Given the description of an element on the screen output the (x, y) to click on. 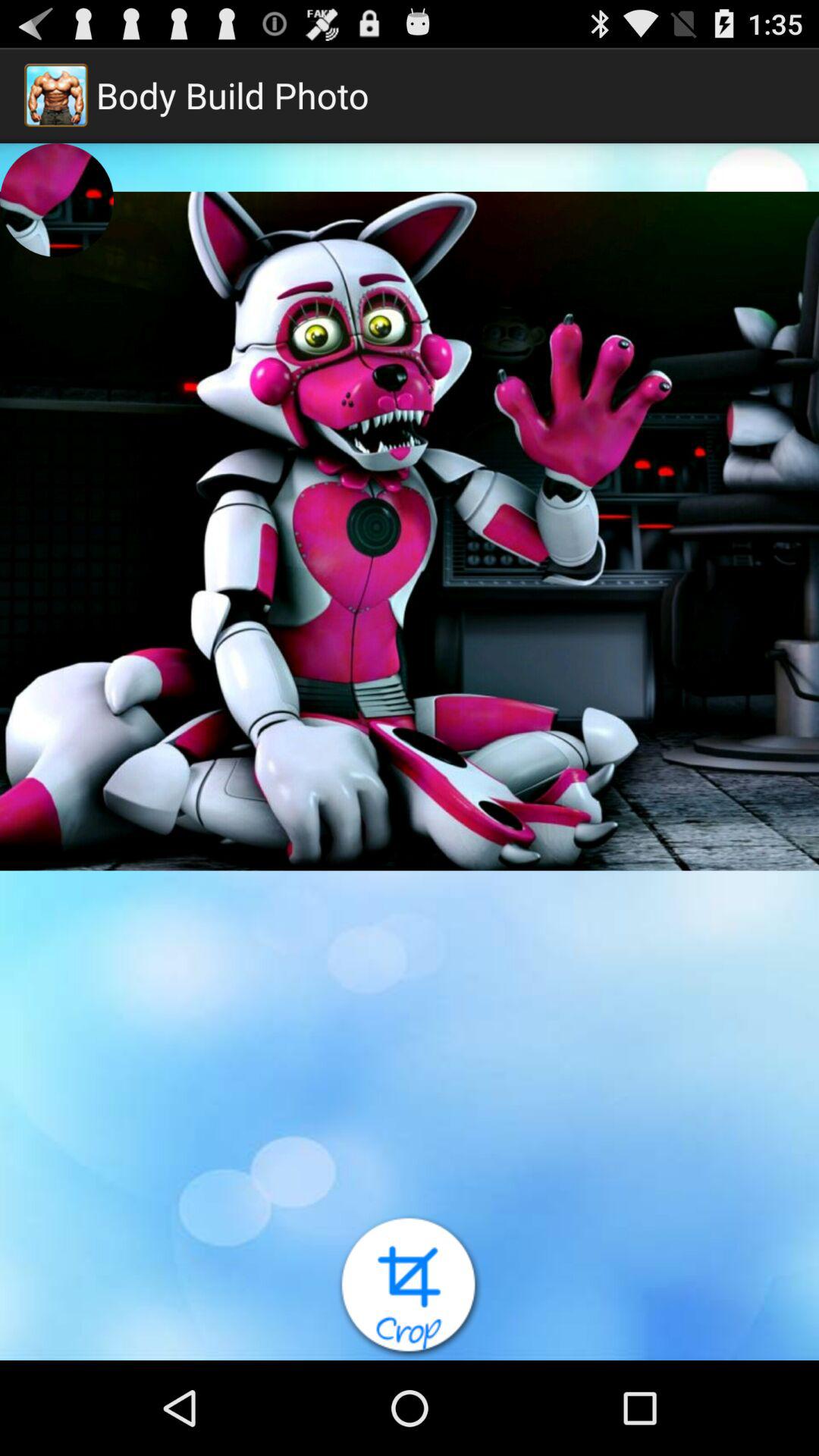
crop photo (409, 1287)
